Given the description of an element on the screen output the (x, y) to click on. 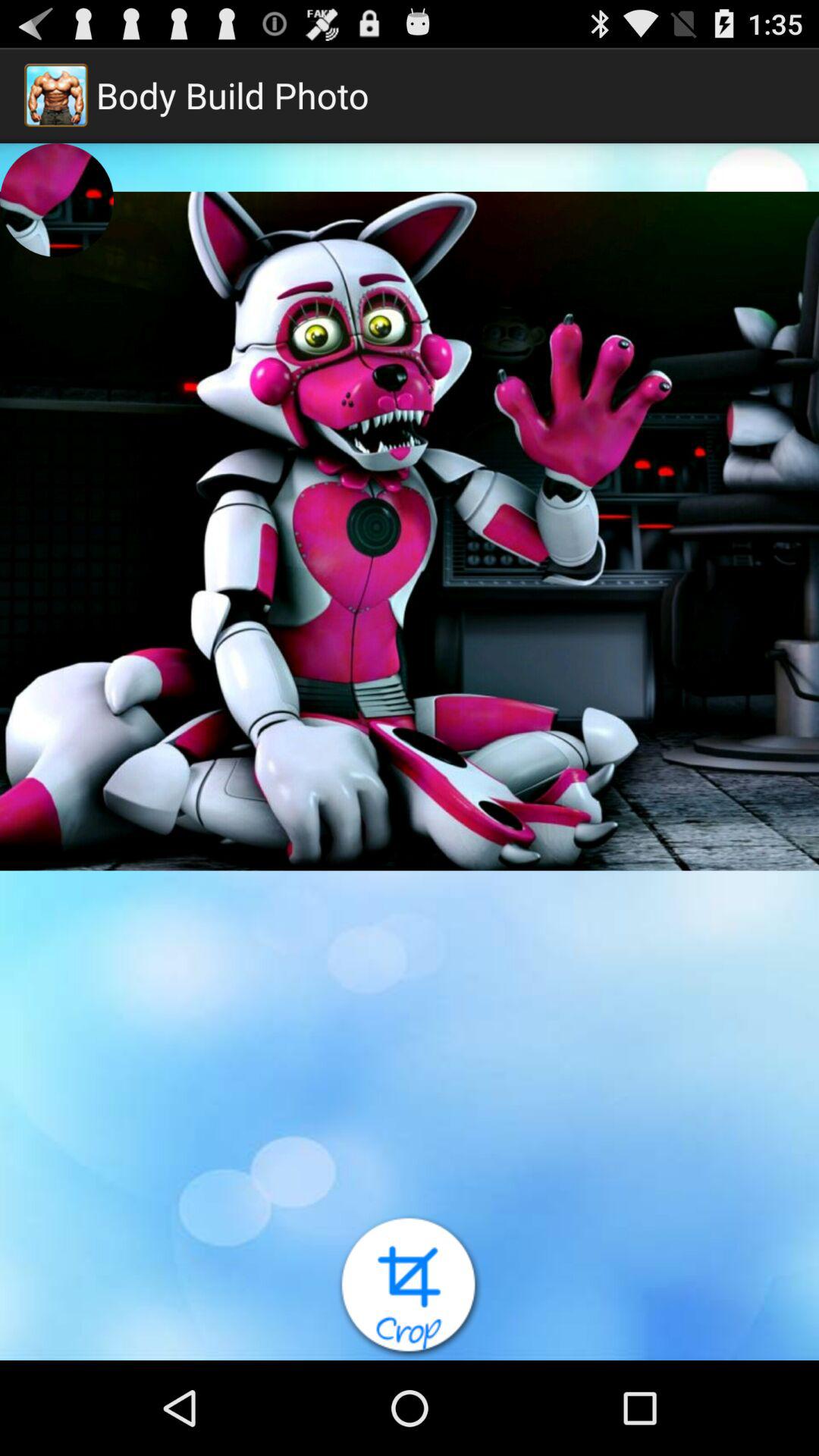
crop photo (409, 1287)
